Given the description of an element on the screen output the (x, y) to click on. 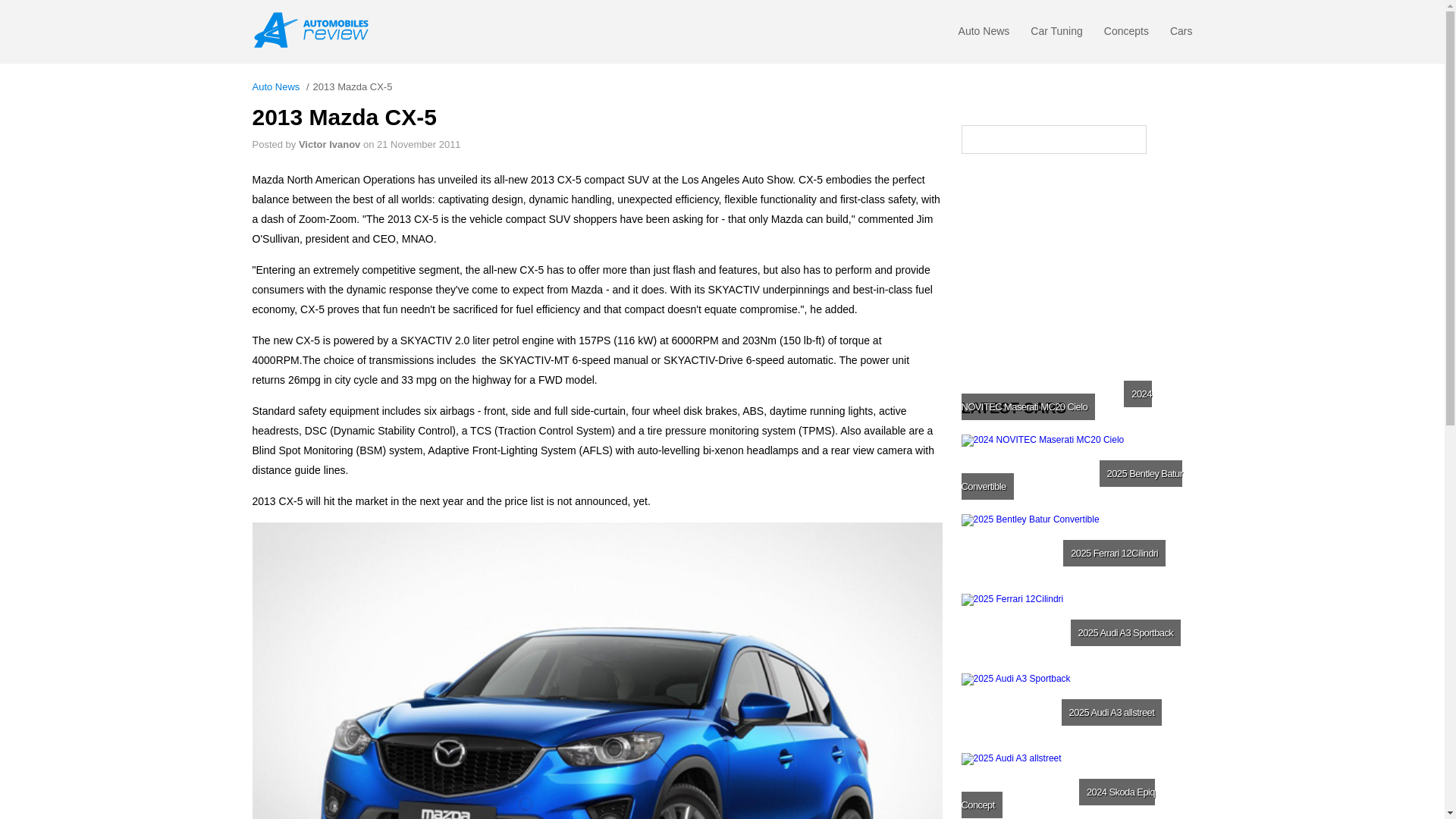
Cars (1181, 35)
Audi A3 allstreet (1074, 785)
Auto News (275, 86)
Car Tuning (1055, 35)
Cars (1181, 35)
Concepts (1125, 35)
NOVITEC Maserati MC20 Cielo (1074, 471)
Audi A3 Sportback (1074, 710)
Concepts (1125, 35)
